Given the description of an element on the screen output the (x, y) to click on. 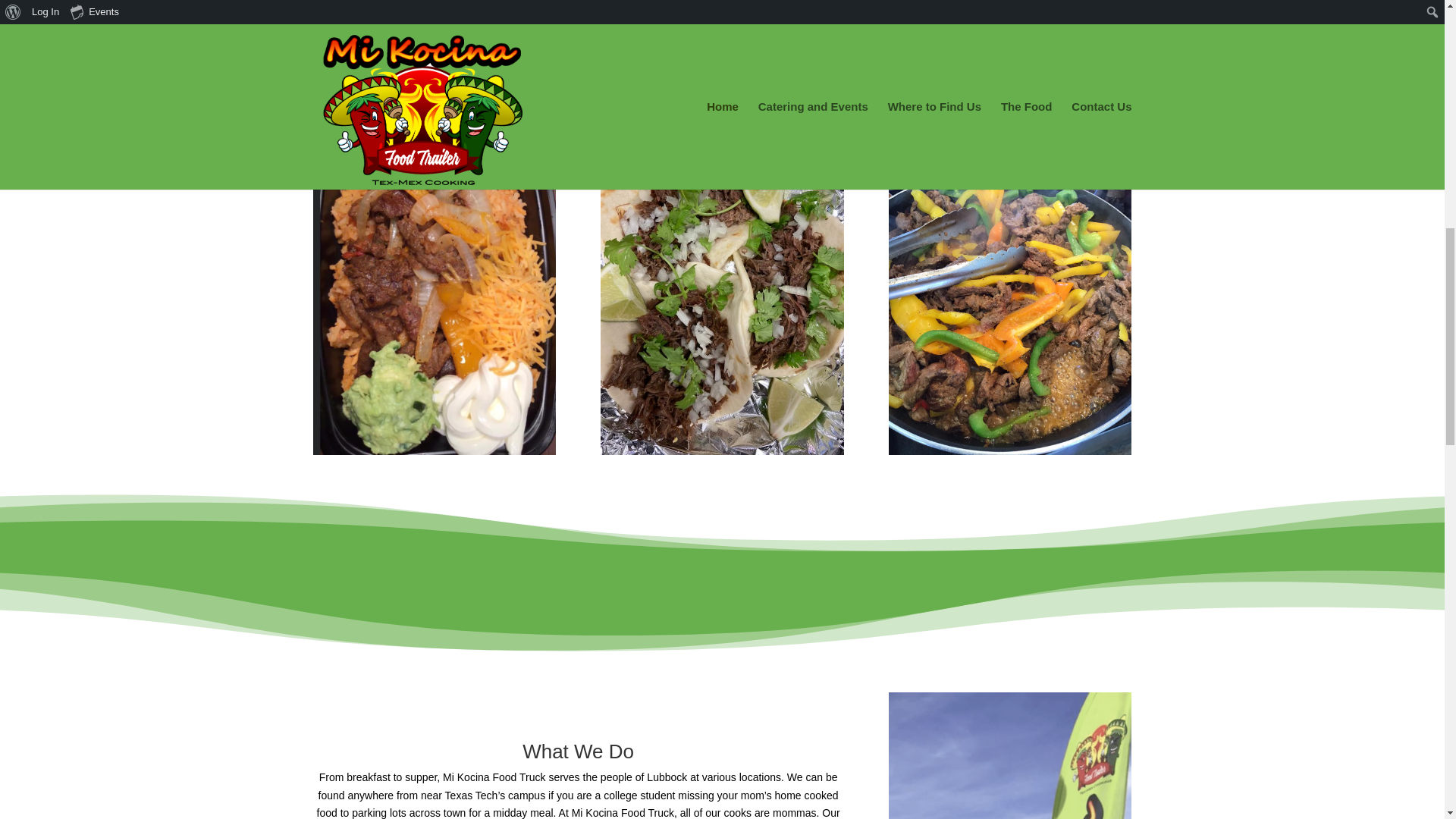
7064C0D1-E853-4549-BC8D-D2E473476B07 (1009, 755)
A06D80BF-1B77-4FE0-B041-9197F188F854 (721, 293)
